Given the description of an element on the screen output the (x, y) to click on. 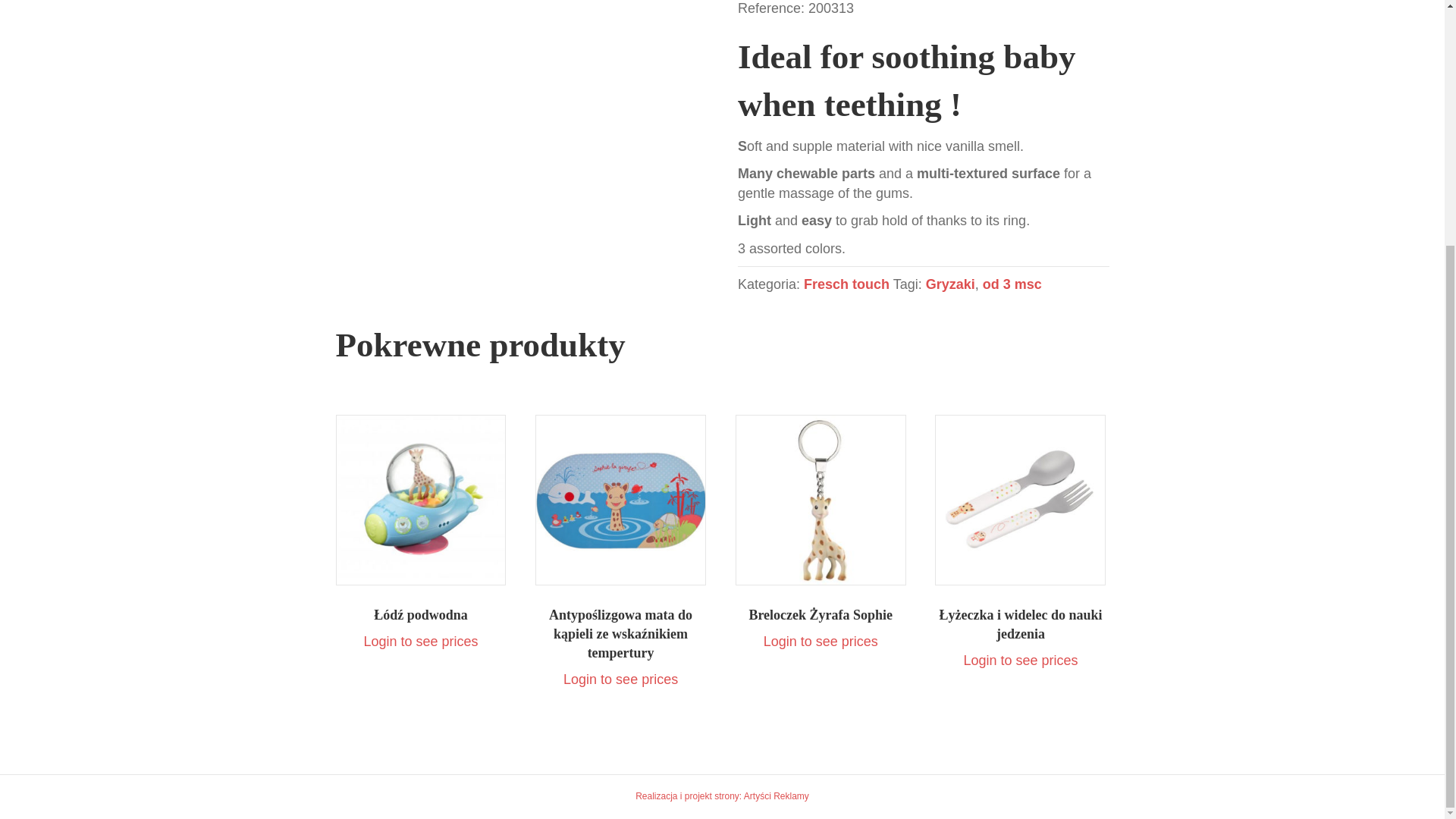
od 3 msc (1012, 283)
Login to see prices (620, 679)
Login to see prices (819, 641)
Fresch touch (846, 283)
Login to see prices (1019, 660)
Login to see prices (419, 641)
Gryzaki (950, 283)
